Given the description of an element on the screen output the (x, y) to click on. 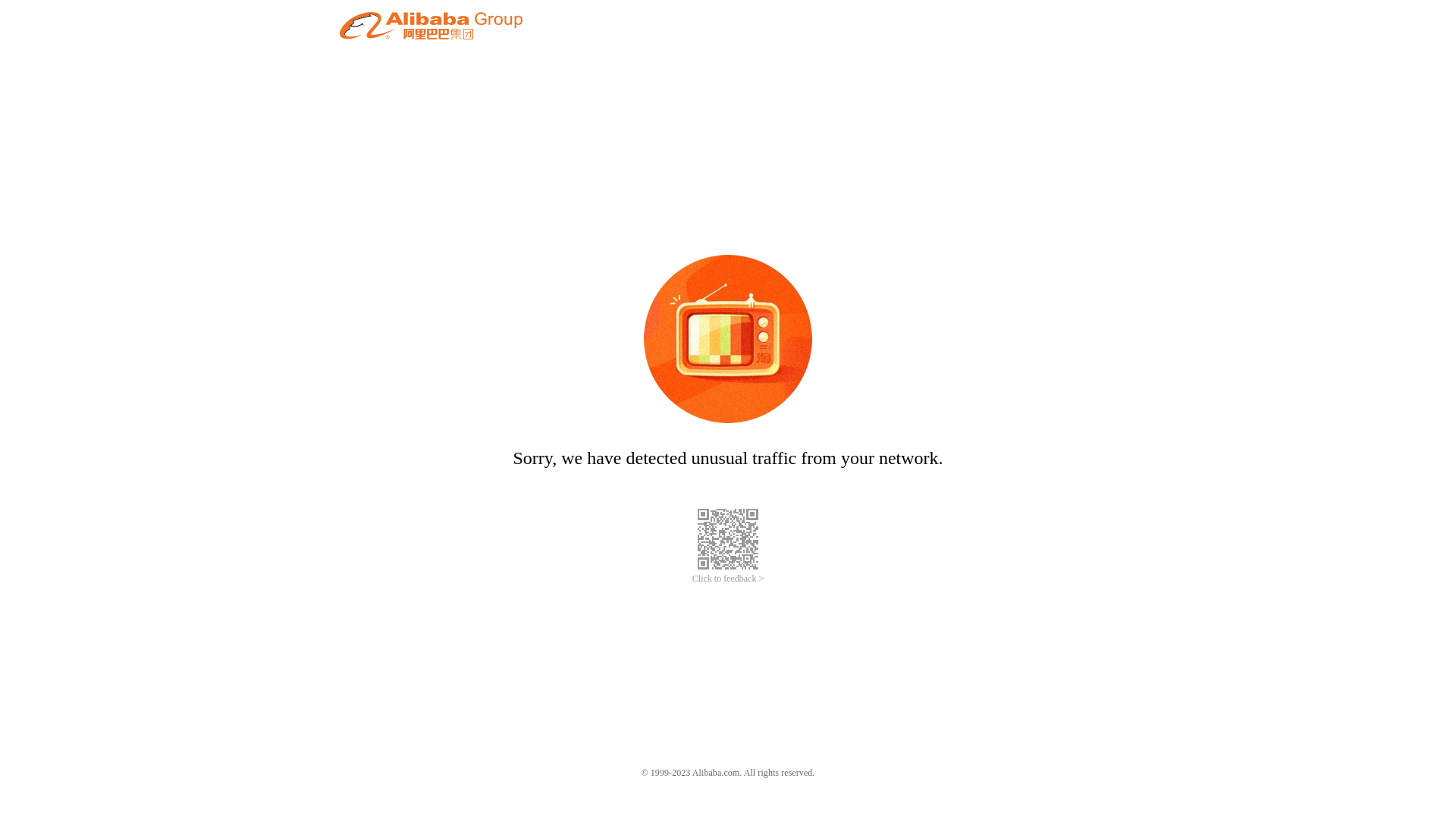
Click to feedback > Element type: text (727, 578)
